Given the description of an element on the screen output the (x, y) to click on. 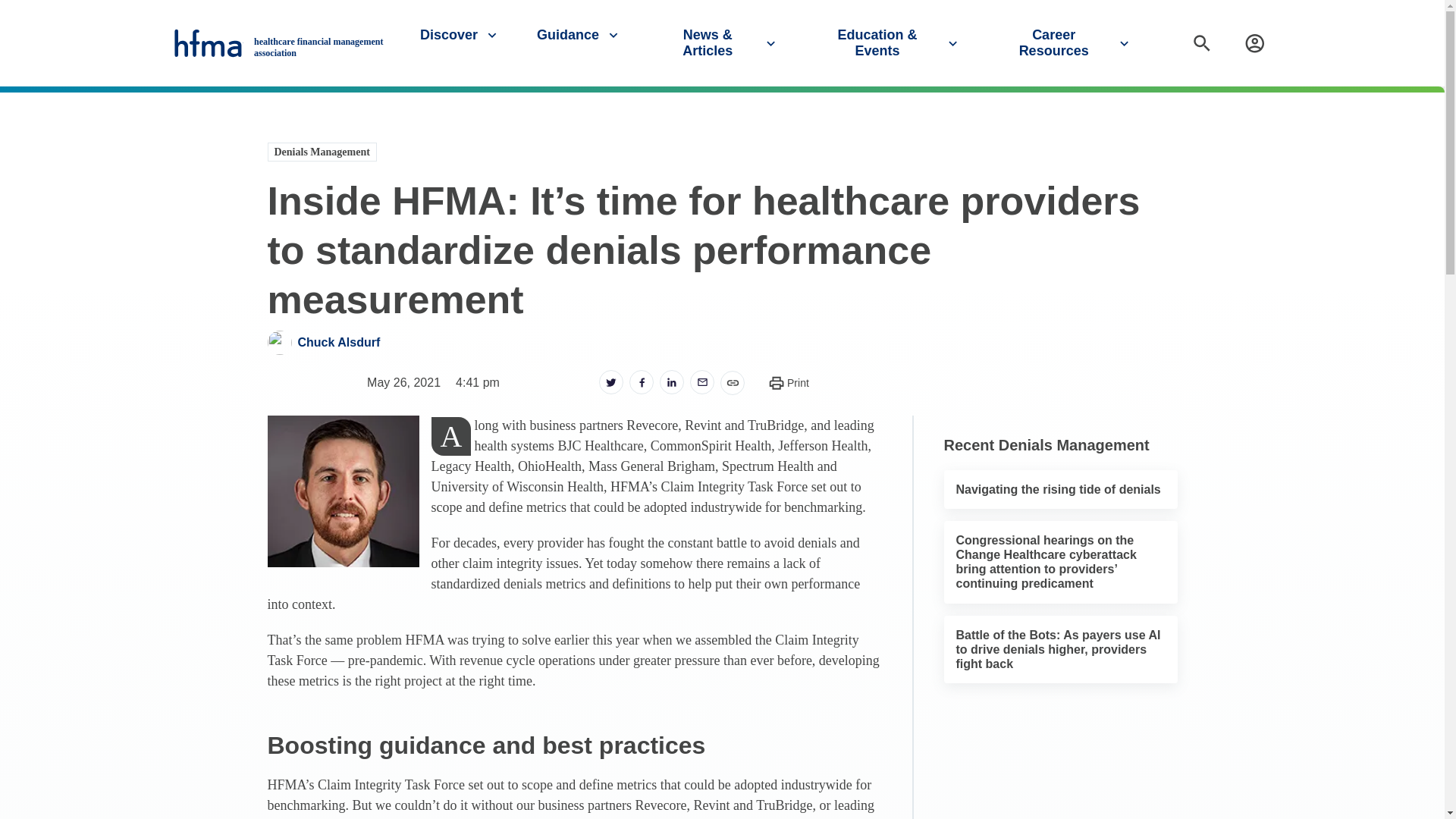
Career Resources (1064, 42)
Submit (1427, 101)
Discover (460, 35)
Click to share on Twitter (610, 381)
Click to email a link to a friend (702, 381)
Click to share on Facebook (640, 381)
Guidance (579, 35)
Click to share on LinkedIn (671, 381)
